Given the description of an element on the screen output the (x, y) to click on. 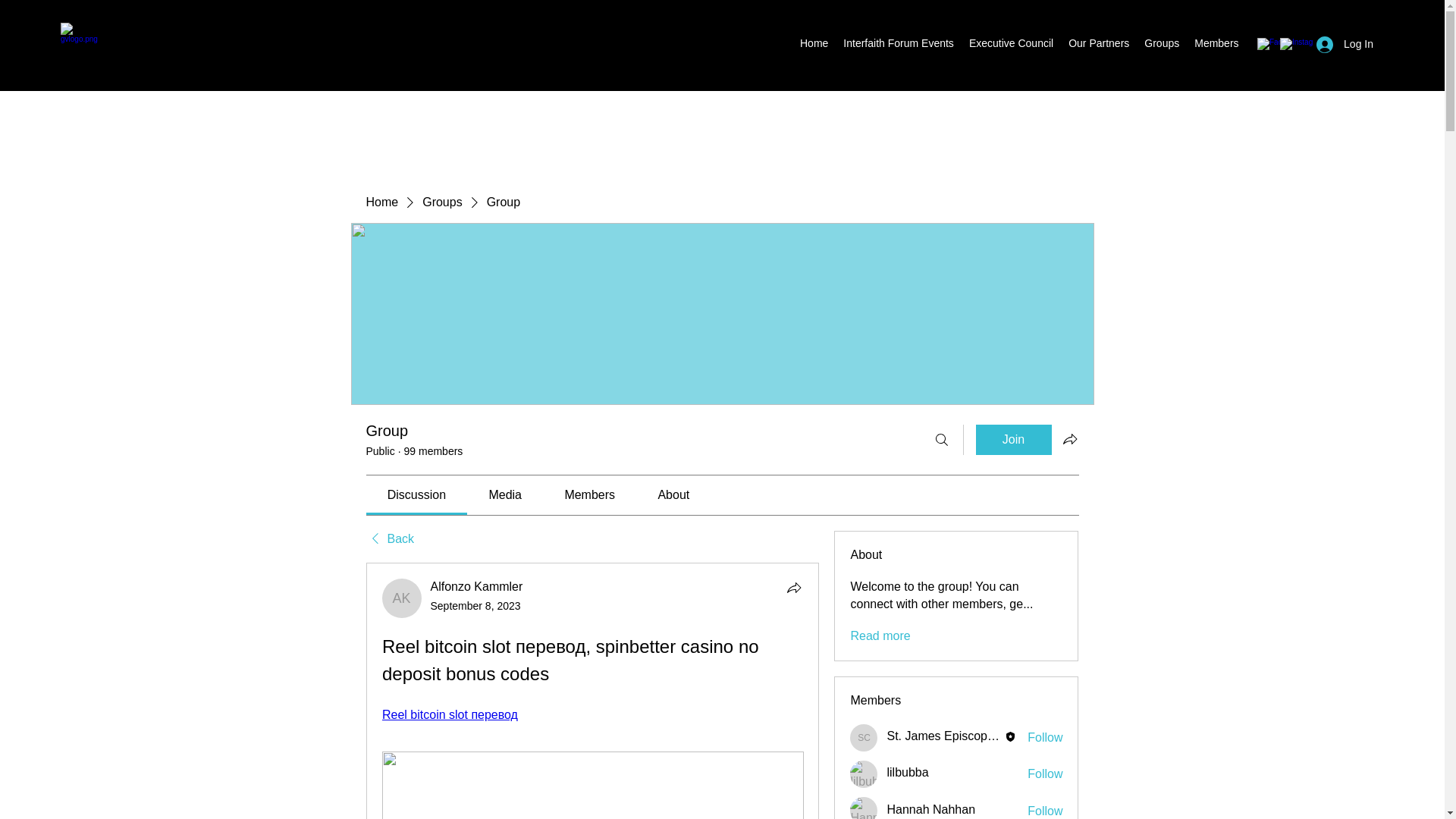
St. James Episcopal Church (962, 735)
Alfonzo Kammler (401, 598)
Home (813, 45)
St. James Episcopal Church (863, 737)
Hannah Nahhan (863, 807)
Our Partners (1099, 45)
Read more (880, 636)
lilbubba (863, 773)
September 8, 2023 (475, 605)
Home (381, 202)
Log In (1345, 44)
Groups (441, 202)
Members (1216, 45)
Back (389, 538)
Follow (1044, 773)
